Given the description of an element on the screen output the (x, y) to click on. 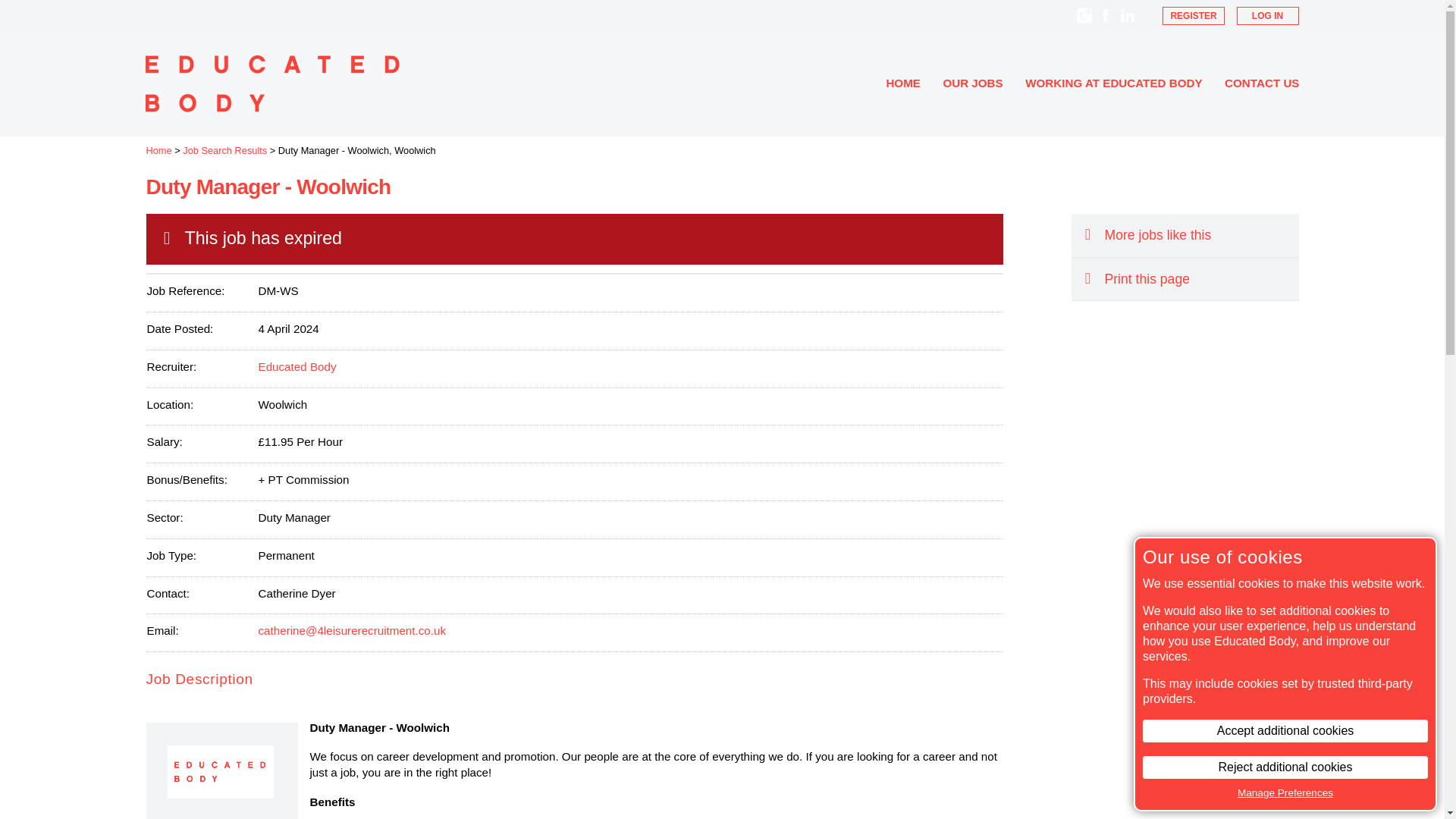
HOME (902, 83)
WORKING AT EDUCATED BODY (1113, 83)
OUR JOBS (972, 83)
Print this page (1184, 278)
More jobs like this (1184, 234)
Follow us on Facebook (1105, 15)
Educated Body (296, 366)
FOLLOW US ON INSTAGRAM (1084, 15)
Home (158, 150)
Accept additional cookies (1285, 730)
REGISTER (1192, 15)
LOG IN (1267, 15)
Follow us on LinkedIn (1127, 15)
Job Search Results (224, 150)
FOLLOW US ON FACEBOOK (1105, 15)
